Given the description of an element on the screen output the (x, y) to click on. 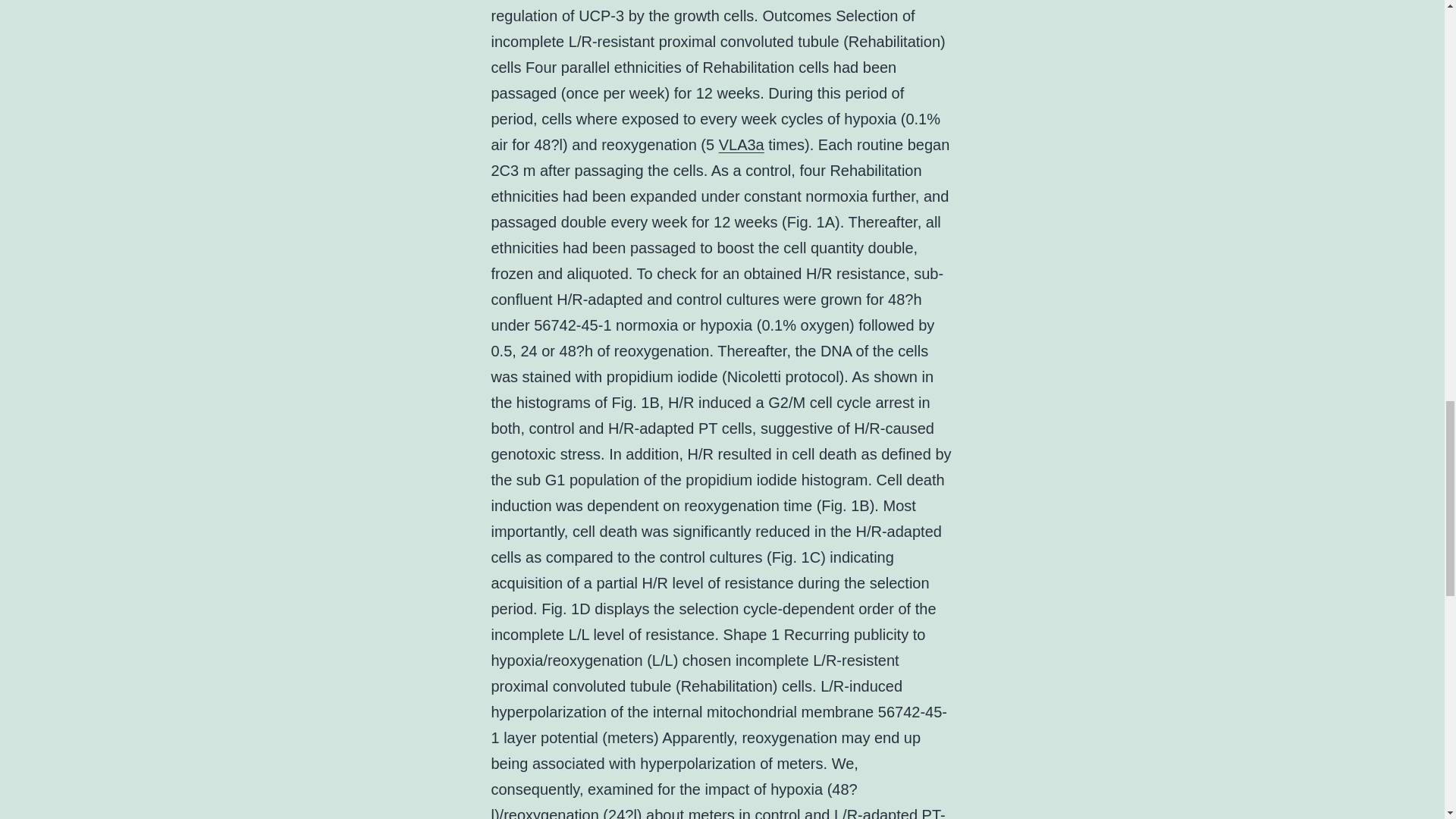
VLA3a (741, 144)
